Given the description of an element on the screen output the (x, y) to click on. 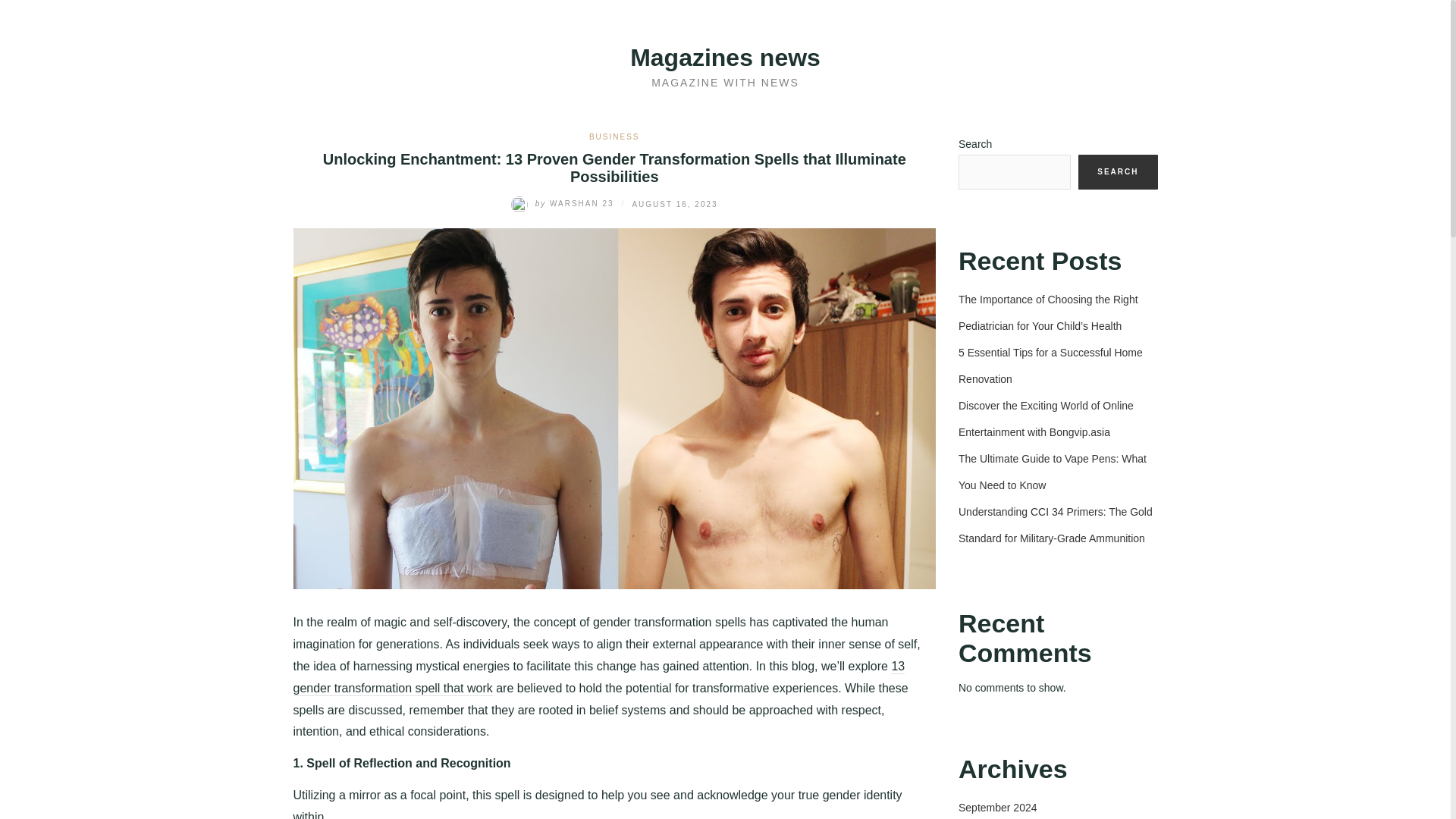
Magazines news (725, 57)
by WARSHAN 23 (564, 203)
5 Essential Tips for a Successful Home Renovation (1050, 365)
The Ultimate Guide to Vape Pens: What You Need to Know (1052, 471)
13 gender transformation spell that work (598, 678)
SEARCH (1117, 171)
September 2024 (997, 807)
BUSINESS (614, 136)
